Given the description of an element on the screen output the (x, y) to click on. 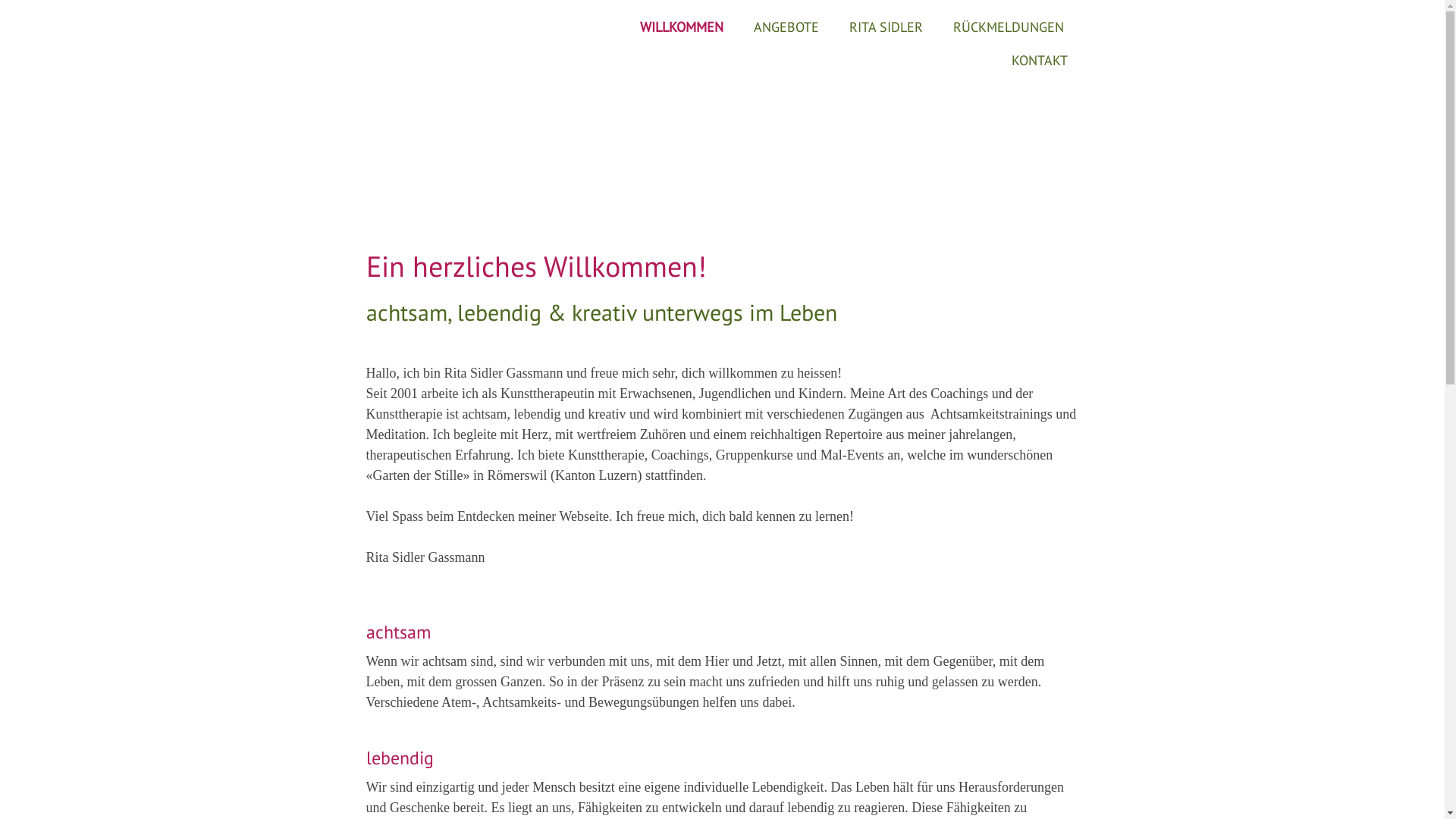
WILLKOMMEN Element type: text (680, 27)
RITA SIDLER Element type: text (885, 27)
ANGEBOTE Element type: text (785, 27)
KONTAKT Element type: text (1038, 60)
